Given the description of an element on the screen output the (x, y) to click on. 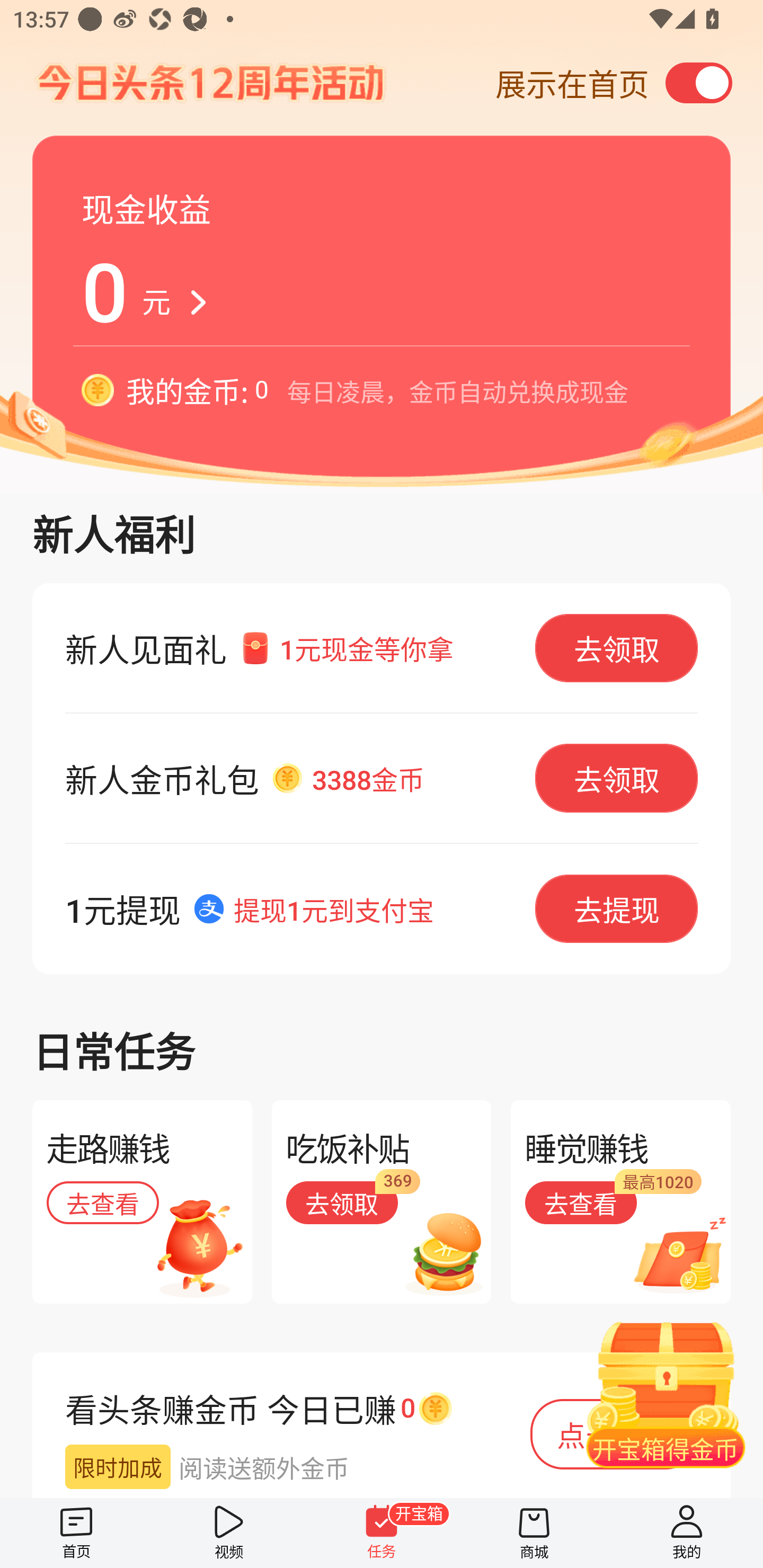
首页 (76, 1532)
视频 (228, 1532)
任务 开宝箱 (381, 1532)
商城 (533, 1532)
我的 (686, 1532)
